Given the description of an element on the screen output the (x, y) to click on. 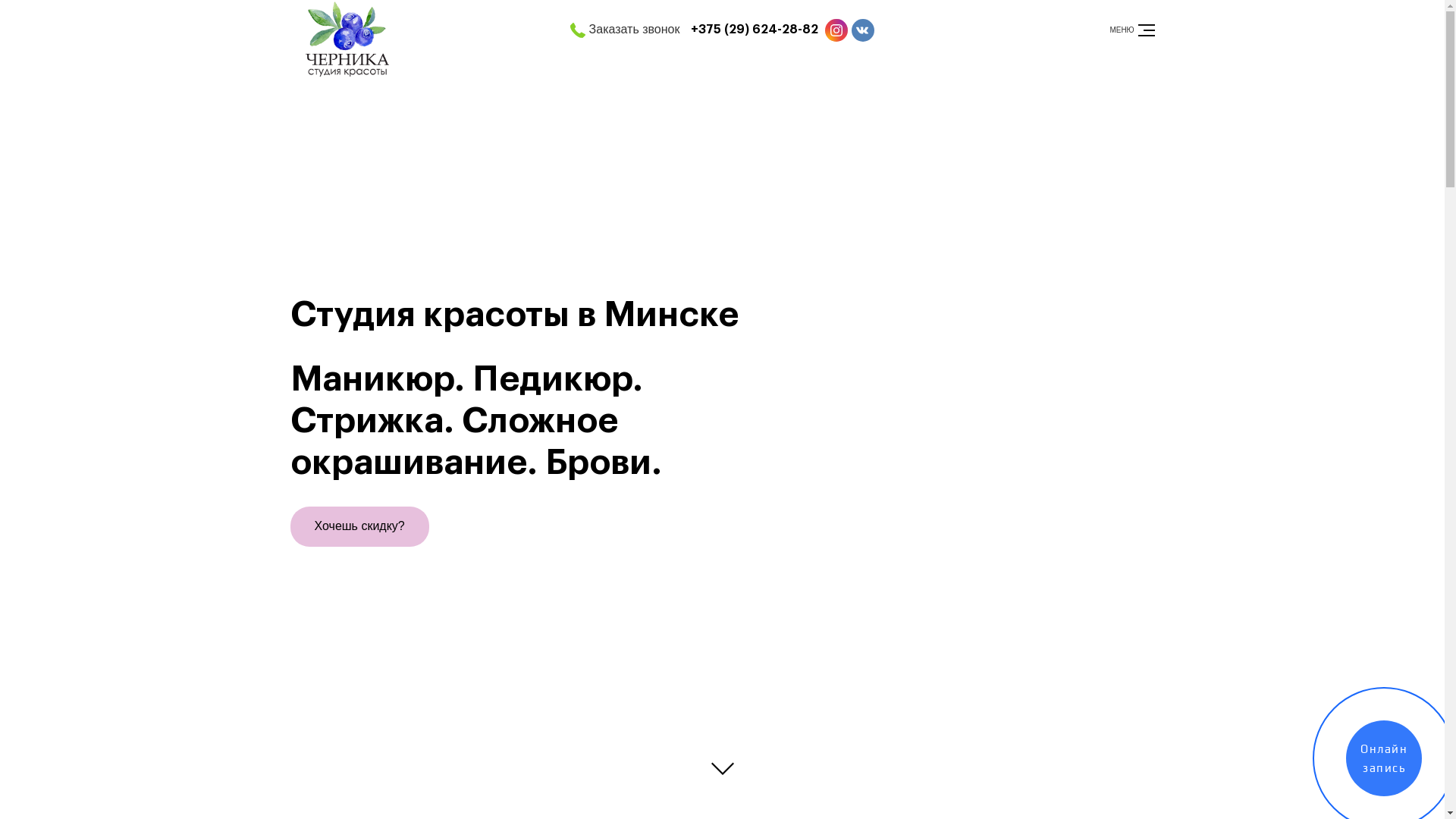
+375 (29) 624-28-82 Element type: text (754, 29)
